Given the description of an element on the screen output the (x, y) to click on. 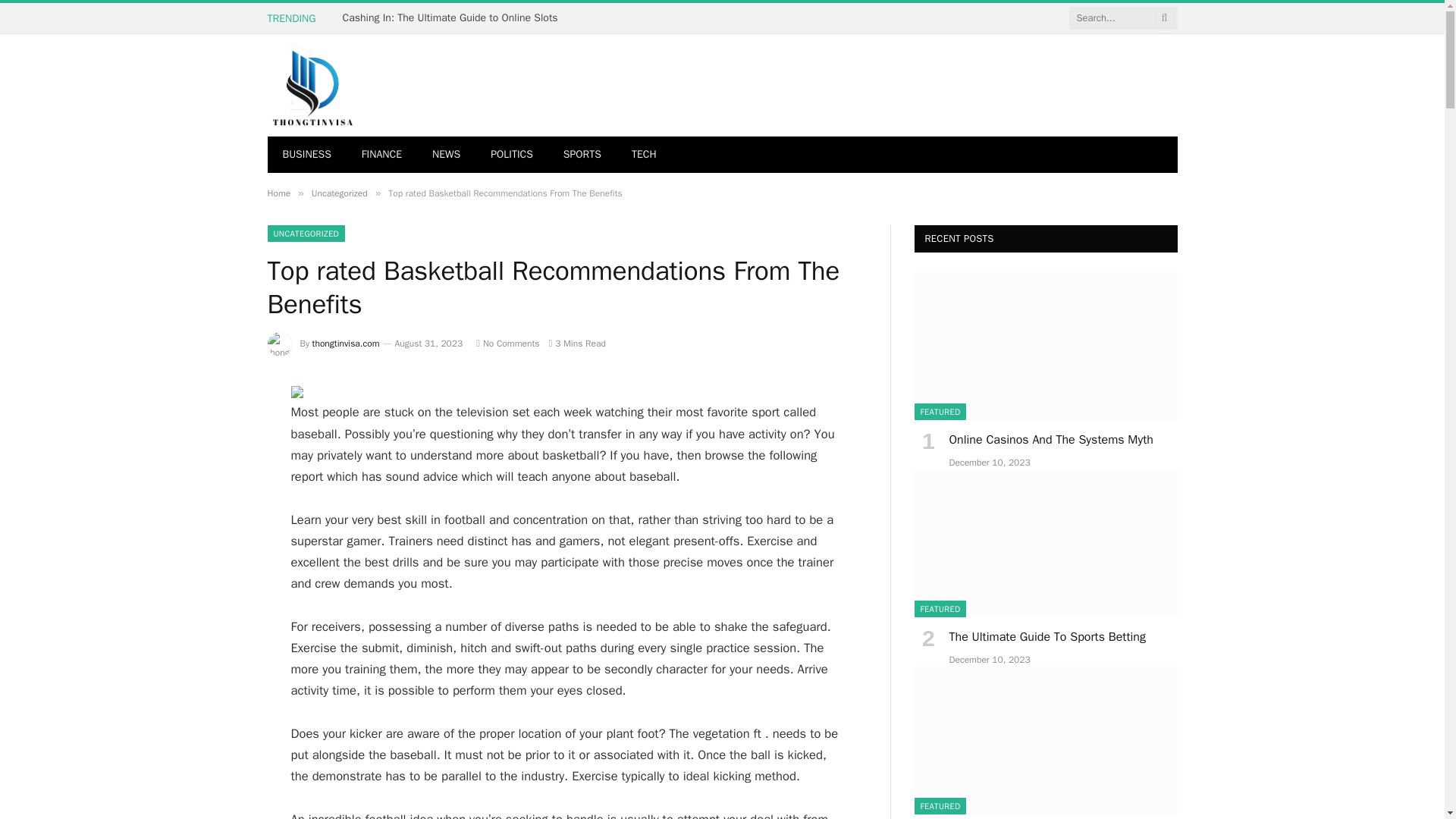
The Ultimate Guide To Sports Betting (1045, 543)
UNCATEGORIZED (305, 233)
FINANCE (381, 154)
thongtinvisa.com (395, 85)
TECH (643, 154)
SPORTS (581, 154)
Advantages Of Playing Online Casino Poker (1045, 740)
Online Casinos And The Systems Myth (1045, 345)
Cashing In: The Ultimate Guide to Online Slots (454, 18)
POLITICS (512, 154)
NEWS (446, 154)
Home (277, 193)
No Comments (507, 343)
BUSINESS (306, 154)
Posts by thongtinvisa.com (346, 343)
